Given the description of an element on the screen output the (x, y) to click on. 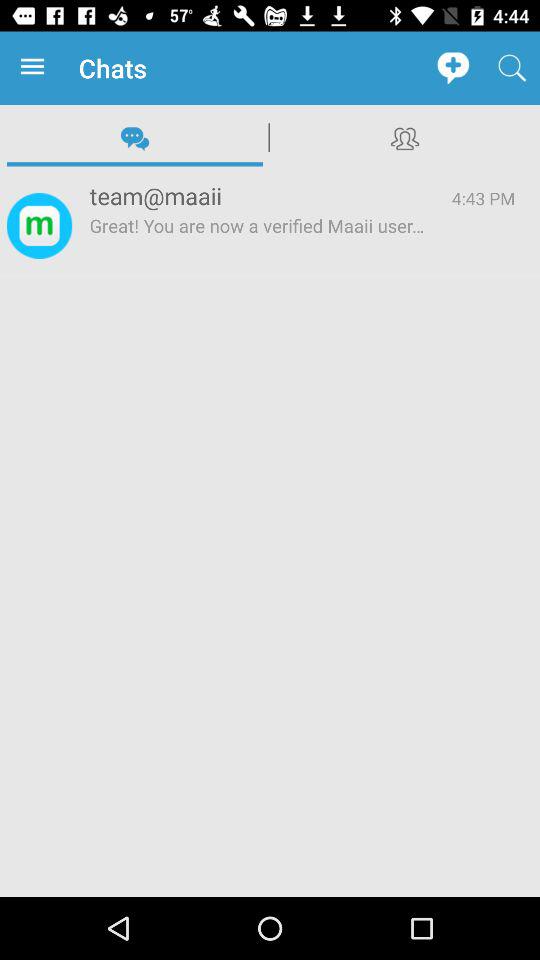
turn on the item next to the team@maaii item (39, 225)
